Given the description of an element on the screen output the (x, y) to click on. 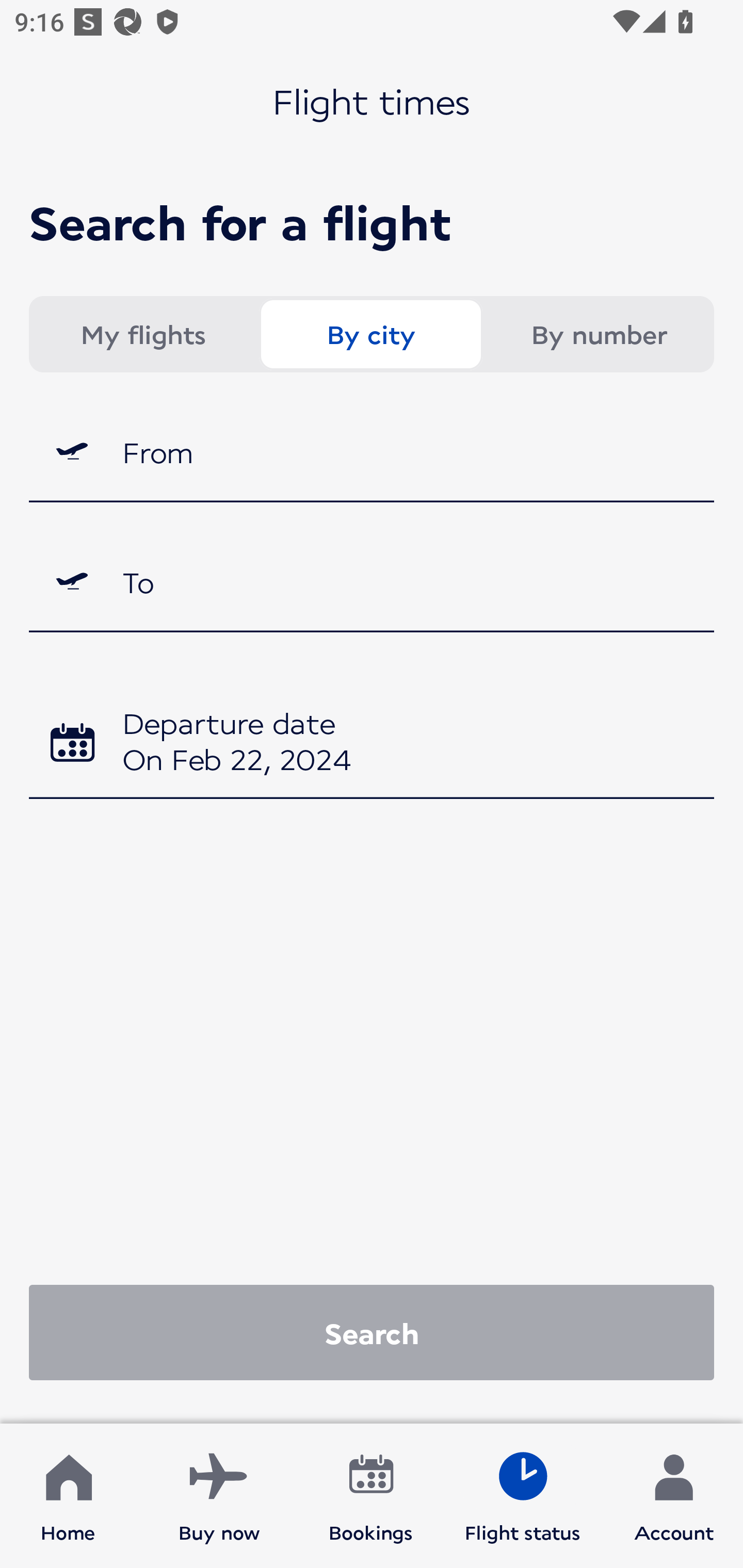
My flights (142, 334)
By city (370, 334)
By number (598, 334)
From (371, 451)
To (371, 581)
On Feb 22, 2024 Departure date (371, 744)
Search (371, 1331)
Home (68, 1495)
Buy now (219, 1495)
Bookings (370, 1495)
Account (674, 1495)
